Given the description of an element on the screen output the (x, y) to click on. 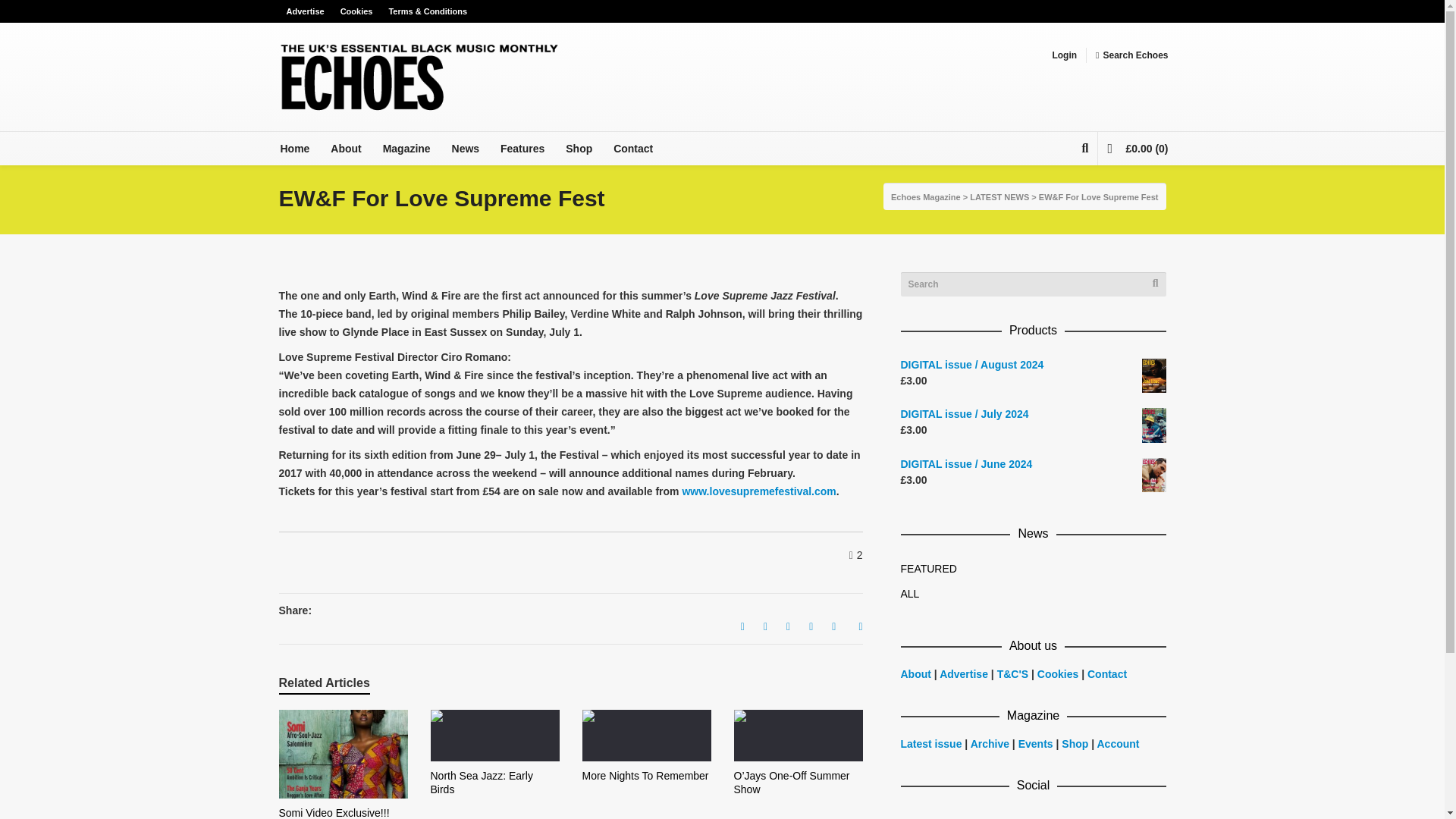
Archive (990, 743)
Permanent Link to Somi Video Exclusive!!! (334, 812)
Go to Echoes Magazine. (925, 196)
Contact (1106, 674)
Go to the LATEST NEWS Category archives. (999, 196)
Events (1034, 743)
Latest issue of the magazine (931, 743)
Advertise (965, 674)
Permanent Link to North Sea Jazz: Early Birds (481, 782)
View your shopping bag (1136, 148)
